Given the description of an element on the screen output the (x, y) to click on. 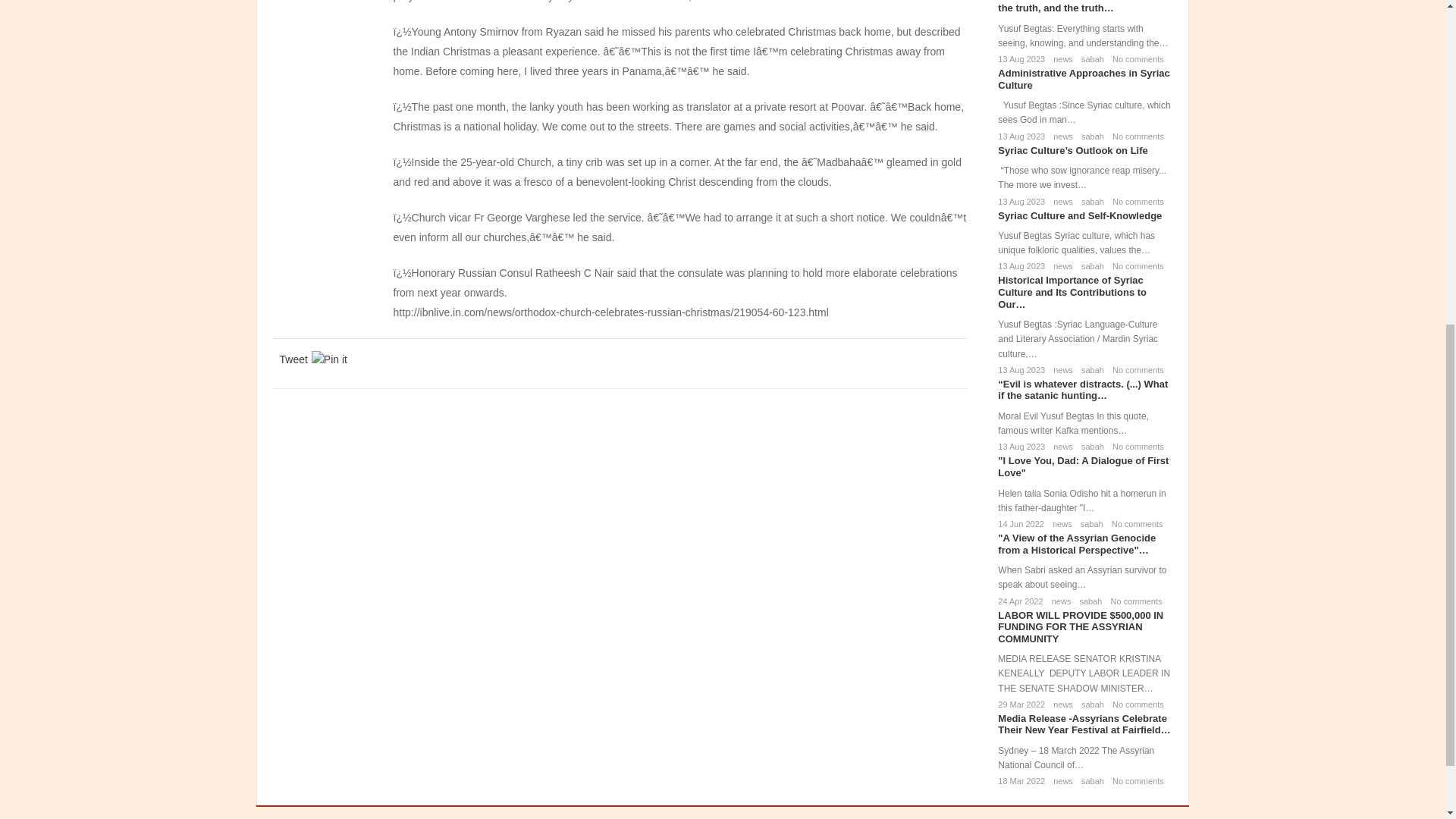
Administrative Approaches in Syriac Culture (1083, 78)
I Love You, Dad: A Dialogue of First Love (1083, 466)
Pin it (329, 359)
Tweet (293, 359)
